Given the description of an element on the screen output the (x, y) to click on. 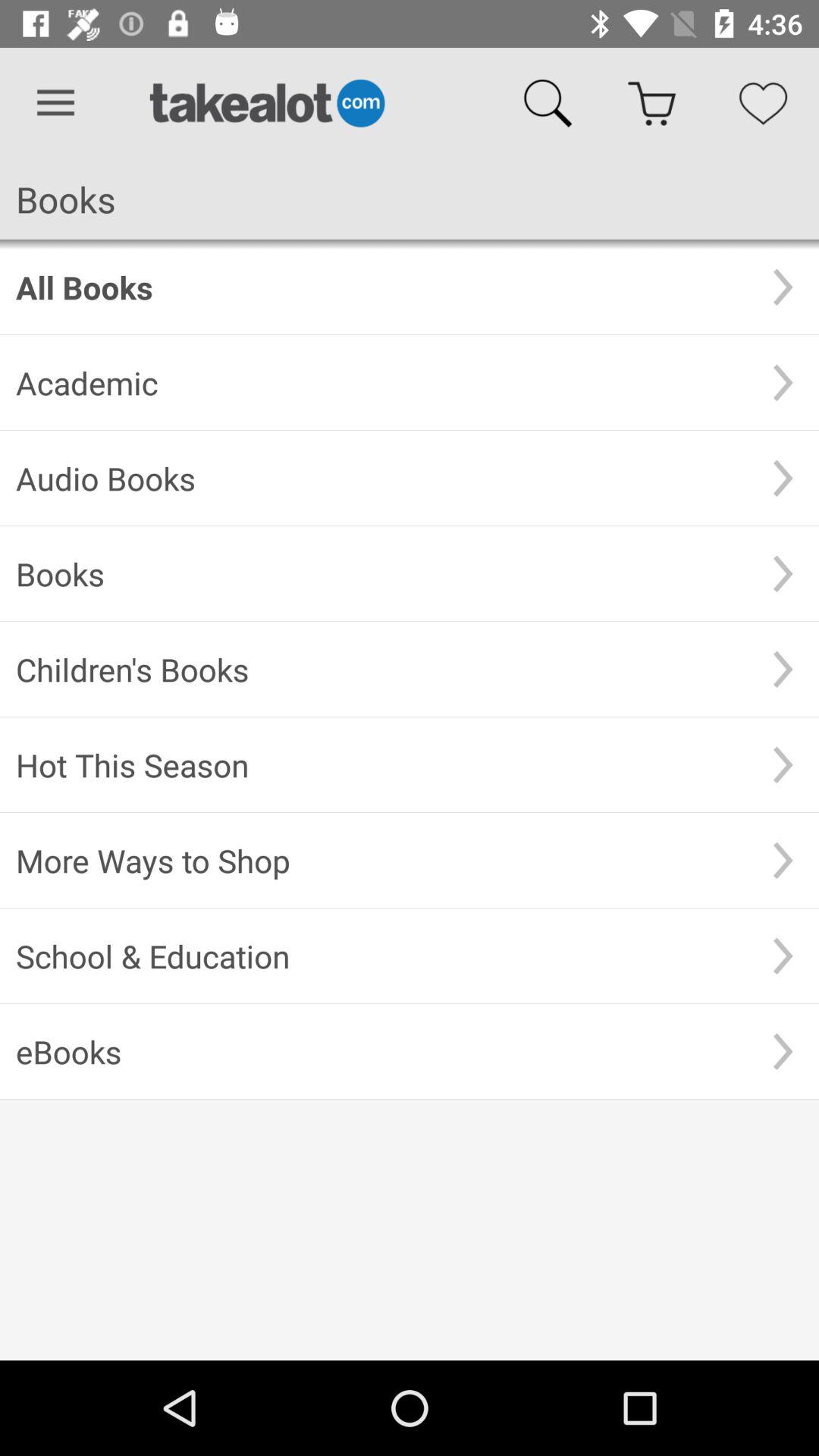
tap item below the school & education item (381, 1051)
